Given the description of an element on the screen output the (x, y) to click on. 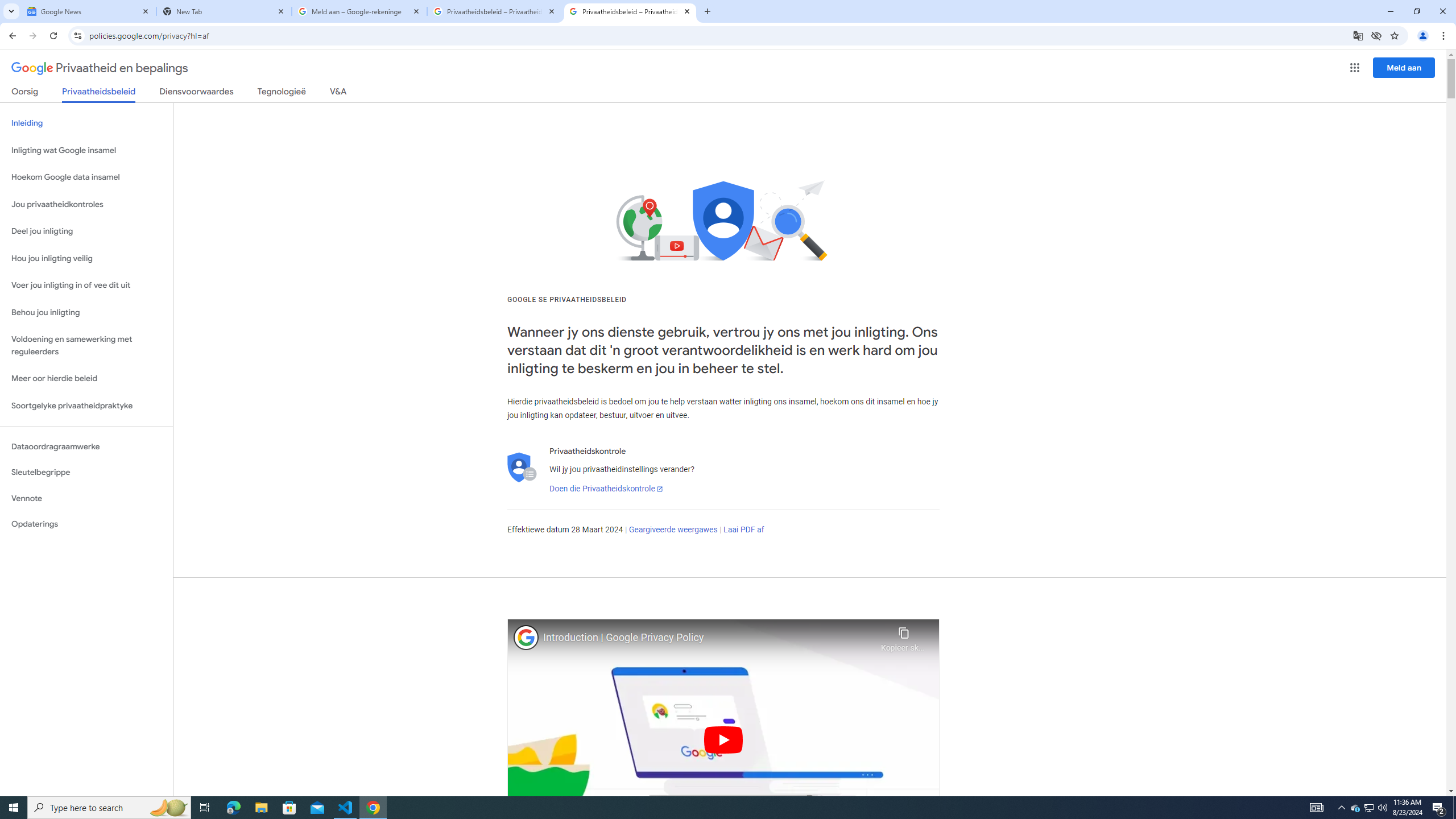
Dataoordragraamwerke (86, 446)
Vennote (86, 497)
Introduction | Google Privacy Policy (709, 637)
Kopieer skakel (903, 636)
Reload (52, 35)
Third-party cookies blocked (1376, 35)
Hou jou inligting veilig (86, 258)
Voldoening en samewerking met reguleerders (86, 345)
Opdaterings (86, 524)
Diensvoorwaardes (196, 93)
